Given the description of an element on the screen output the (x, y) to click on. 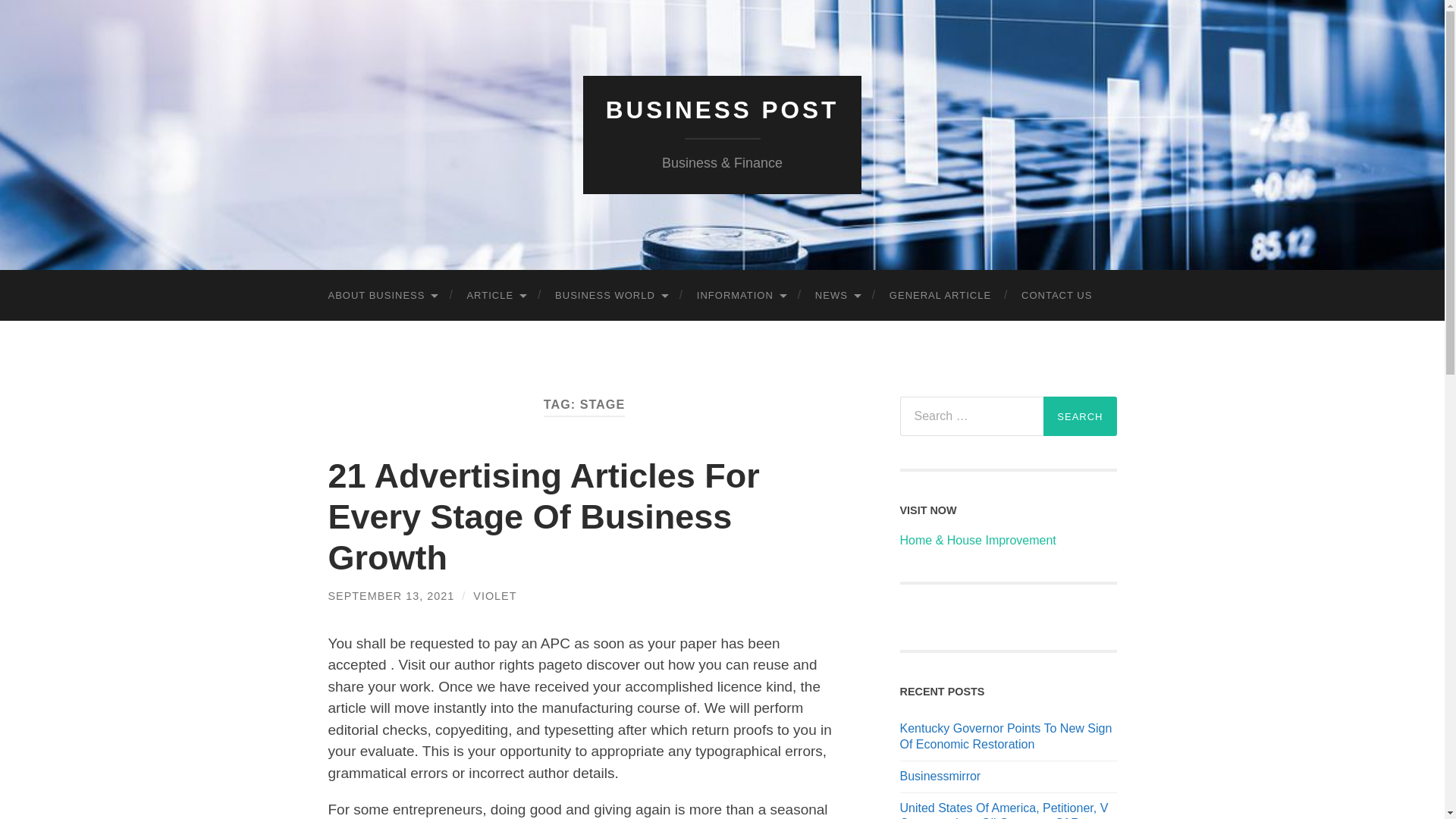
BUSINESS POST (722, 109)
ABOUT BUSINESS (382, 295)
INFORMATION (740, 295)
Posts by Violet (494, 595)
BUSINESS WORLD (610, 295)
GENERAL ARTICLE (940, 295)
ARTICLE (495, 295)
Search (1079, 415)
CONTACT US (1056, 295)
Search (1079, 415)
